Given the description of an element on the screen output the (x, y) to click on. 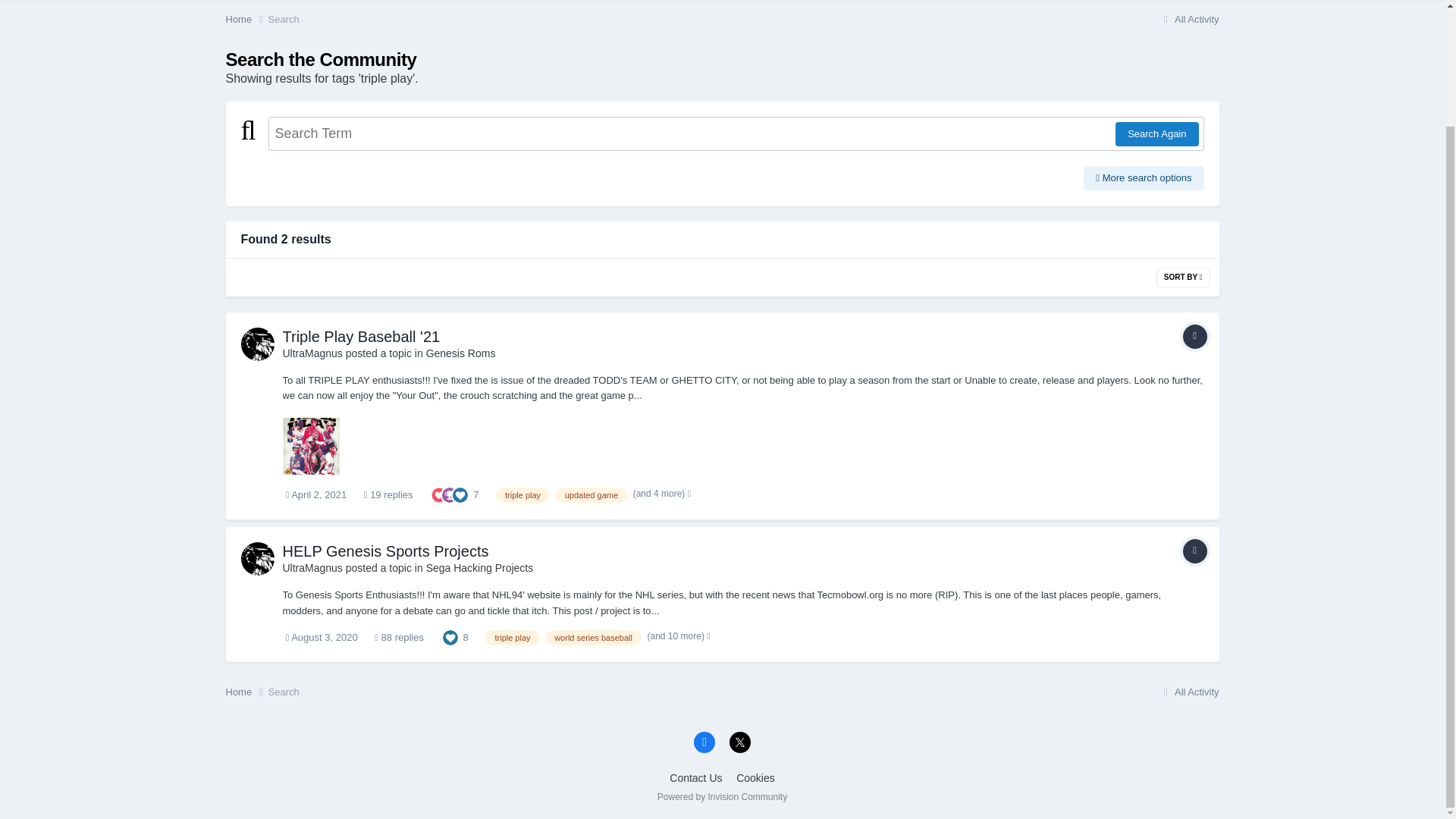
Search (283, 19)
Home (246, 19)
Love (438, 493)
All Activity (1188, 19)
Find other content tagged with 'triple play' (523, 494)
Thanks (449, 493)
More search options (1143, 178)
Topic (1194, 336)
Home (246, 19)
Search Again (1156, 134)
Like (459, 493)
Go to UltraMagnus's profile (312, 353)
Find other content tagged with 'updated game' (591, 494)
Go to UltraMagnus's profile (258, 344)
Topic (1194, 550)
